Given the description of an element on the screen output the (x, y) to click on. 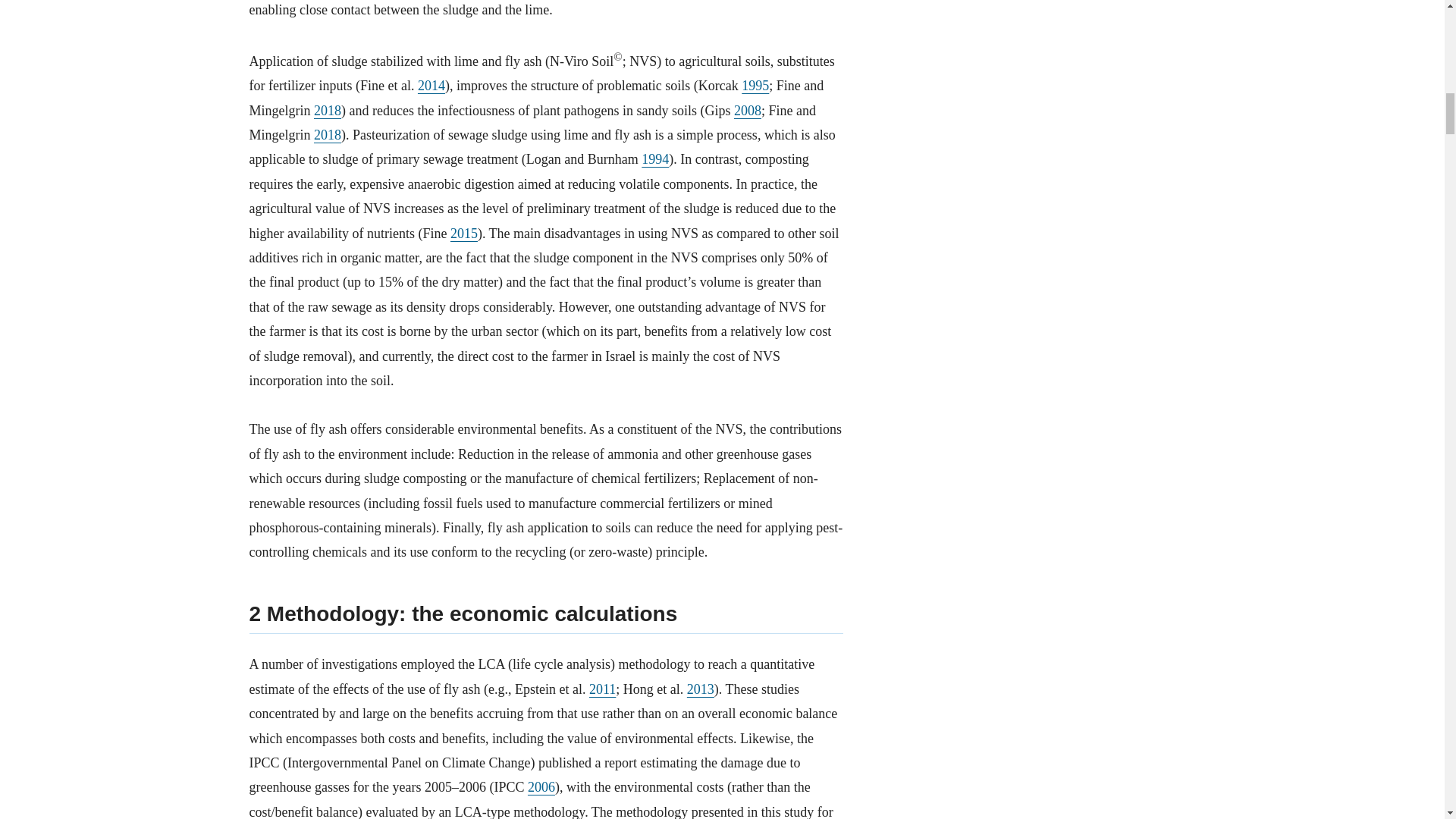
2015 (463, 233)
2014 (431, 85)
2018 (327, 110)
2008 (747, 110)
1995 (754, 85)
1994 (655, 159)
2013 (700, 688)
2011 (602, 688)
2018 (327, 134)
